Given the description of an element on the screen output the (x, y) to click on. 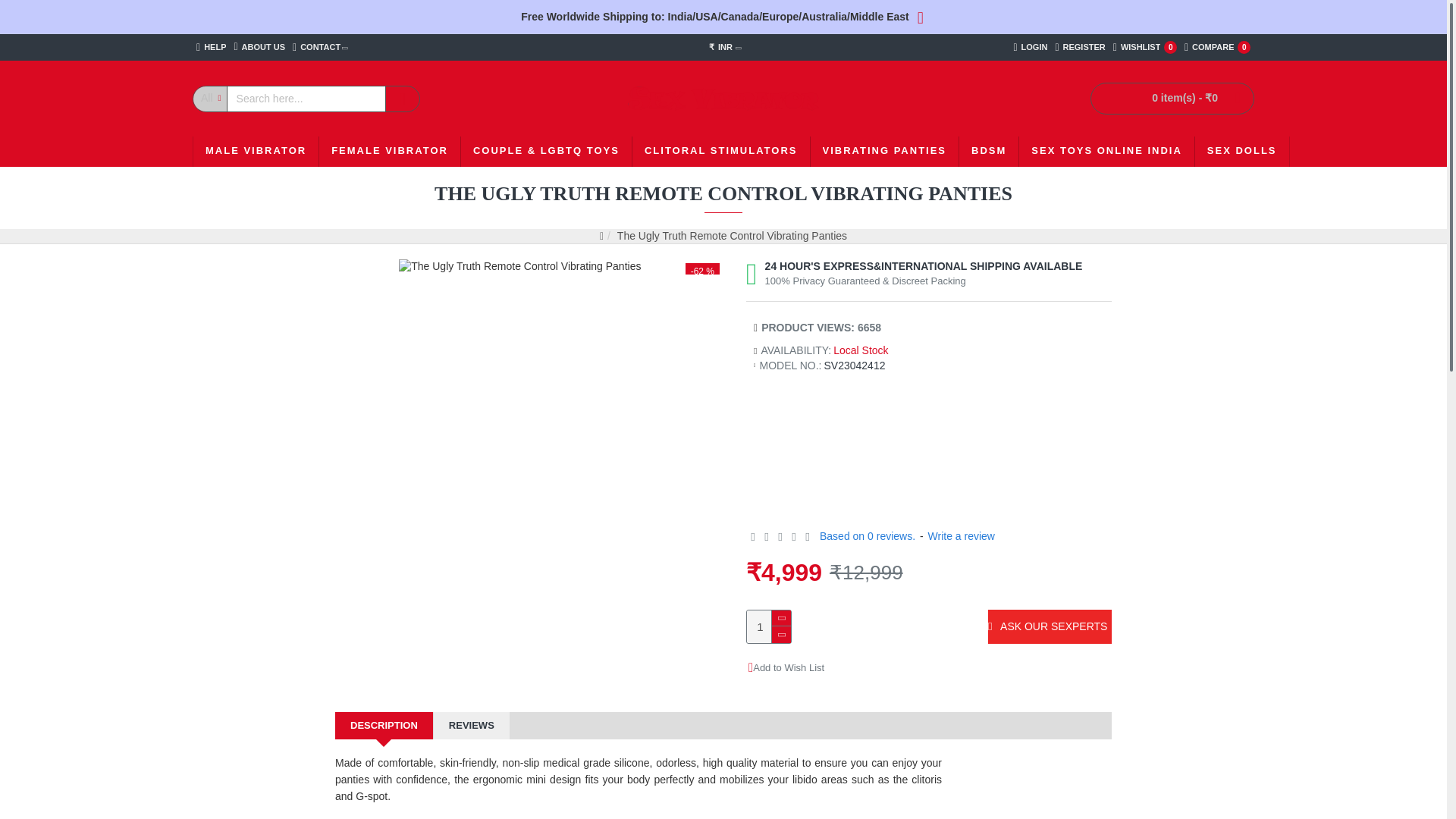
CONTACT (320, 47)
HELP (211, 47)
The Ugly Truth Remote Control Vibrating Panties (519, 266)
LOGIN (1030, 47)
REGISTER (1079, 47)
Sexvibrators (723, 98)
1 (768, 626)
ABOUT US (1144, 47)
MALE VIBRATOR (1216, 47)
